Given the description of an element on the screen output the (x, y) to click on. 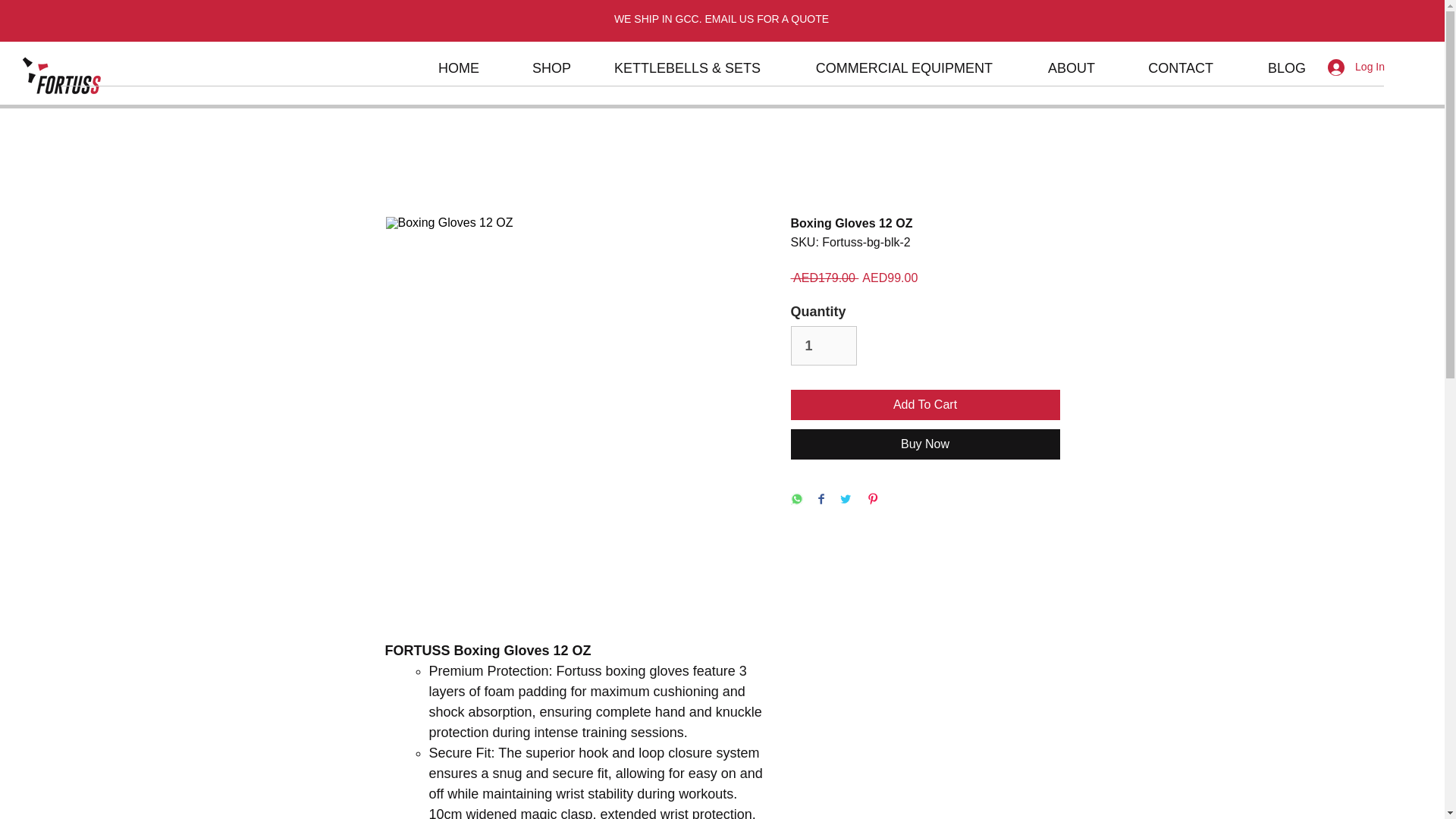
ABOUT (1055, 67)
HOME (441, 67)
WE SHIP IN GCC. EMAIL US FOR A QUOTE (721, 19)
SHOP (536, 67)
Buy Now (924, 444)
COMMERCIAL EQUIPMENT (887, 67)
BLOG (1270, 67)
Log In (1355, 67)
CONTACT (1165, 67)
Add To Cart (924, 404)
